Given the description of an element on the screen output the (x, y) to click on. 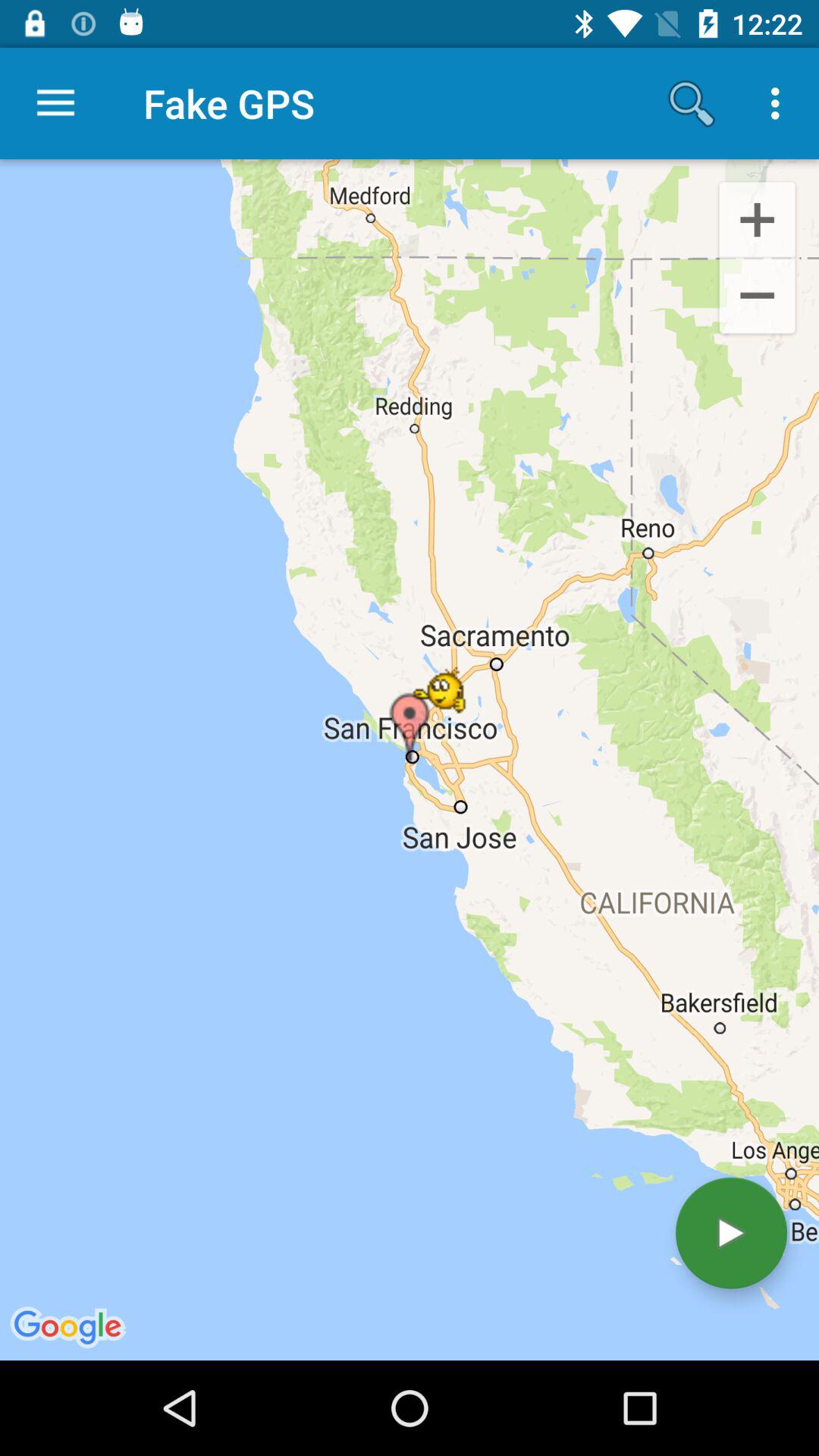
choose the icon next to fake gps app (691, 103)
